Given the description of an element on the screen output the (x, y) to click on. 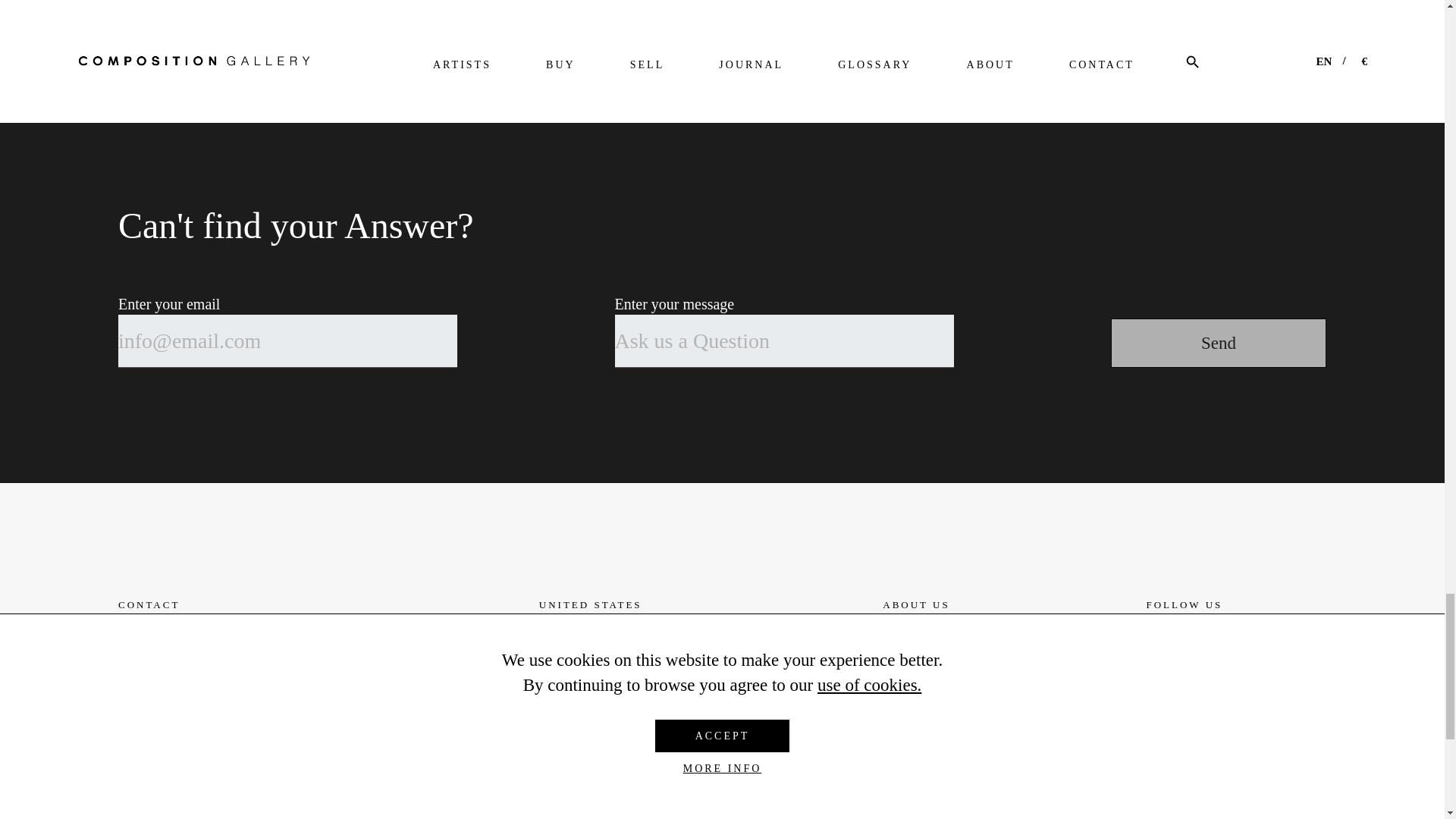
Can't find your Answer? (721, 225)
